Given the description of an element on the screen output the (x, y) to click on. 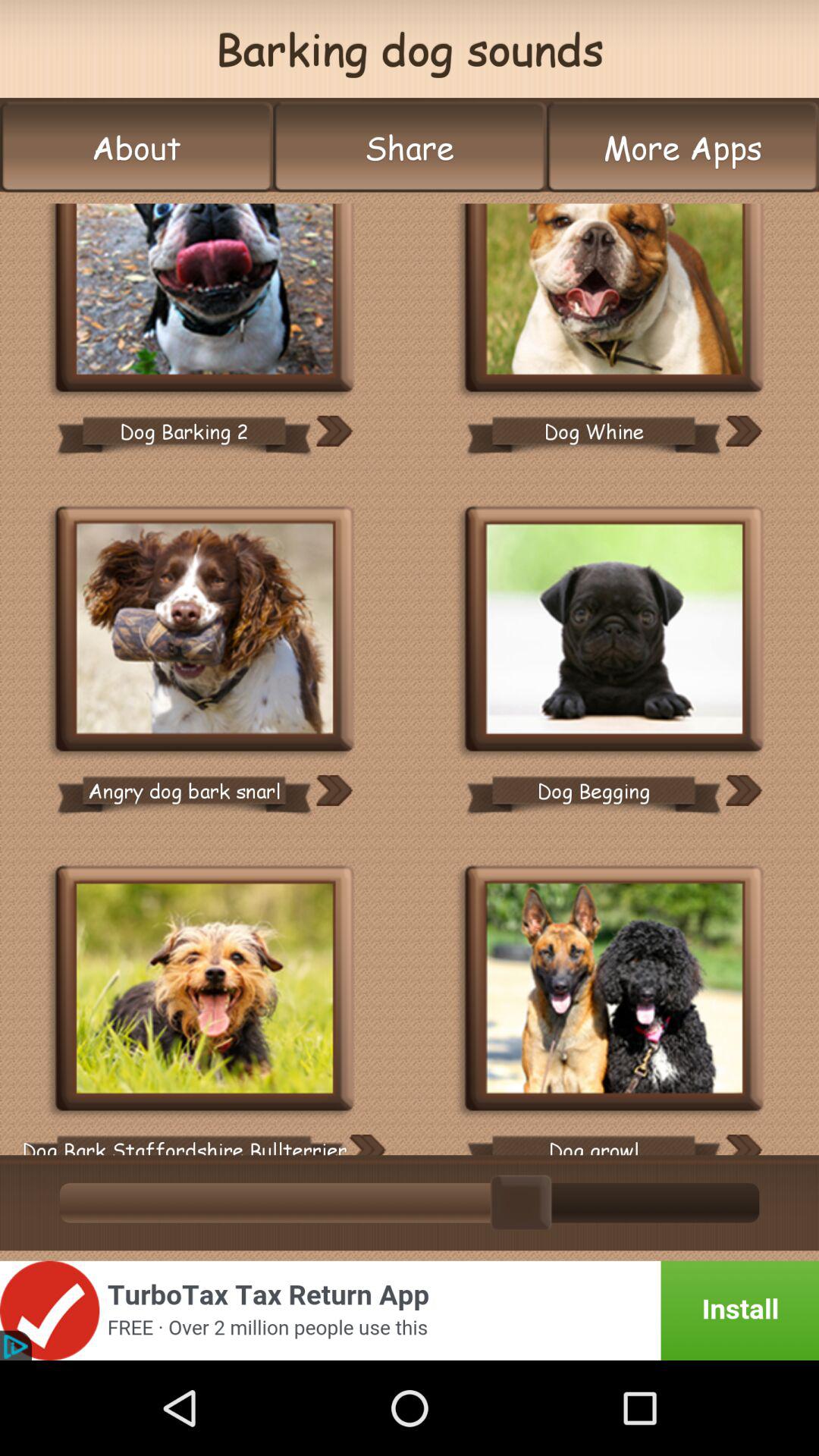
more information (333, 430)
